Given the description of an element on the screen output the (x, y) to click on. 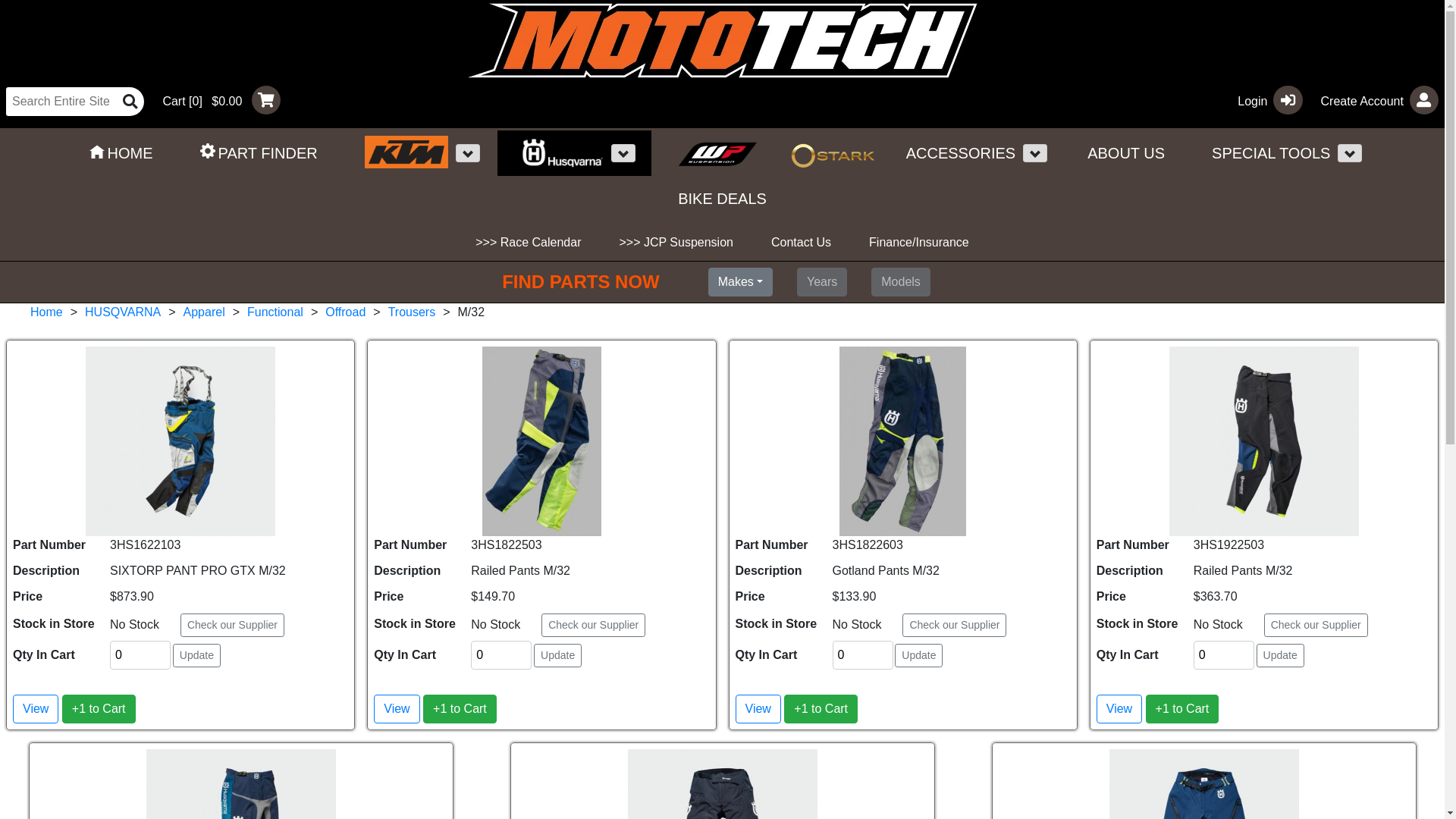
Trousers Element type: text (412, 311)
Home Element type: text (46, 311)
ABOUT US Element type: text (1125, 152)
PART FINDER Element type: text (258, 152)
+1 to Cart Element type: text (820, 708)
HOME Element type: text (120, 152)
View Element type: text (1119, 708)
Check our Supplier Element type: text (1316, 625)
Update Element type: text (918, 655)
Contact Us Element type: text (801, 242)
Makes Element type: text (740, 281)
Models Element type: text (900, 281)
BIKE DEALS Element type: text (722, 198)
Check our Supplier Element type: text (593, 625)
View Element type: text (396, 708)
Cart 0 0.00 Element type: text (215, 99)
Years Element type: text (822, 281)
+1 to Cart Element type: text (98, 708)
Apparel Element type: text (204, 311)
SPECIAL TOOLS Element type: text (1263, 152)
View Element type: text (758, 708)
Offroad Element type: text (345, 311)
FIND PARTS NOW Element type: text (599, 281)
+1 to Cart Element type: text (1182, 708)
>>> JCP Suspension Element type: text (675, 242)
Login Element type: text (1263, 99)
Update Element type: text (1280, 655)
View Element type: text (35, 708)
Check our Supplier Element type: text (232, 625)
Update Element type: text (196, 655)
Update Element type: text (557, 655)
ACCESSORIES Element type: text (952, 152)
Check our Supplier Element type: text (954, 625)
Create Account Element type: text (1373, 99)
+1 to Cart Element type: text (459, 708)
>>> Race Calendar Element type: text (528, 242)
Functional Element type: text (275, 311)
HUSQVARNA Element type: text (122, 311)
Finance/Insurance Element type: text (918, 242)
